Given the description of an element on the screen output the (x, y) to click on. 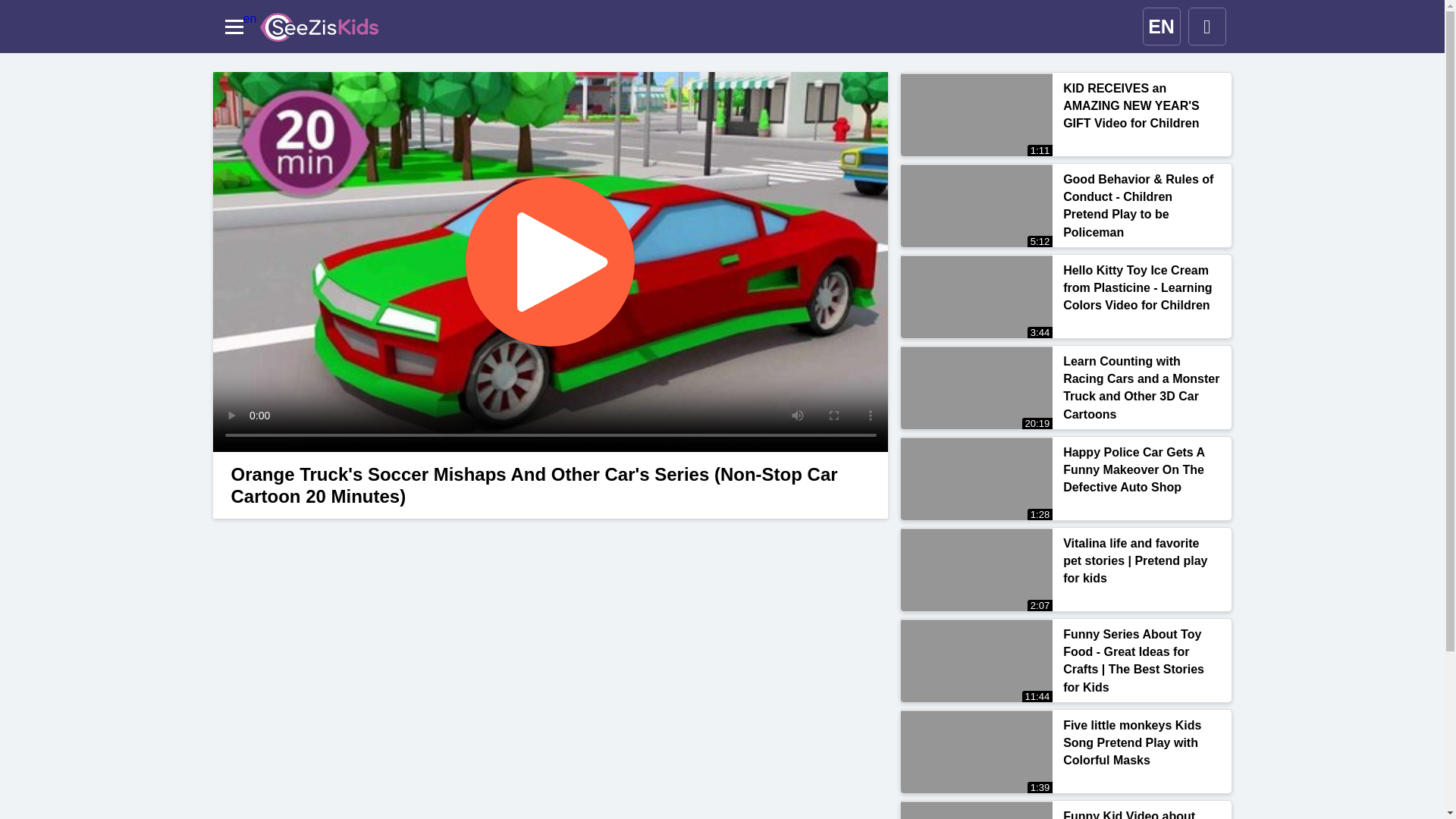
en (318, 26)
KID RECEIVES an AMAZING NEW YEAR'S GIFT Video for Children (1141, 110)
